Given the description of an element on the screen output the (x, y) to click on. 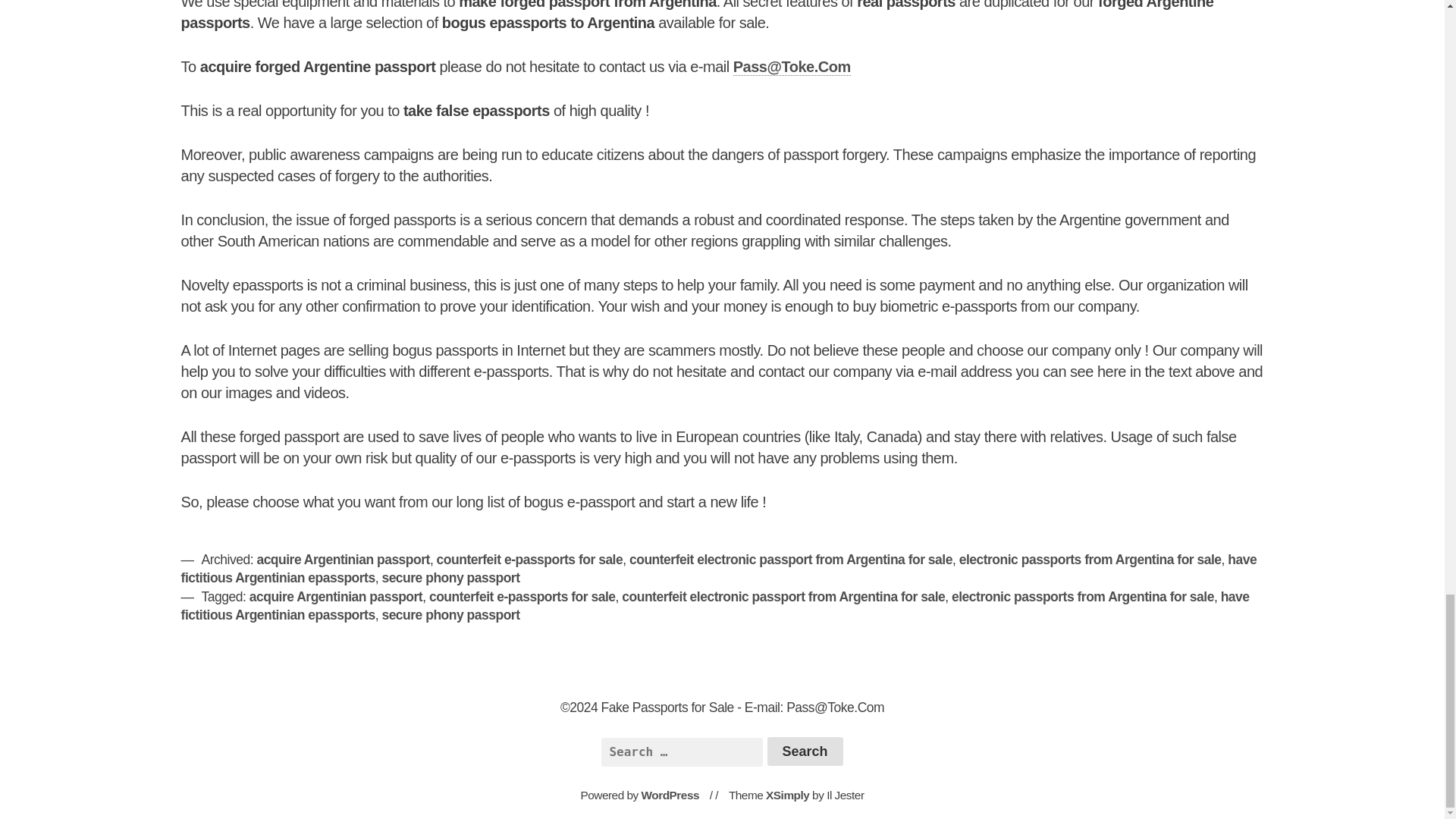
counterfeit electronic passport from Argentina for sale (782, 596)
Search (805, 751)
XSimply (787, 794)
WordPress (670, 794)
acquire Argentinian passport (342, 559)
acquire Argentinian passport (335, 596)
counterfeit e-passports for sale (529, 559)
electronic passports from Argentina for sale (1090, 559)
have fictitious Argentinian epassports (714, 605)
counterfeit e-passports for sale (522, 596)
electronic passports from Argentina for sale (1083, 596)
counterfeit electronic passport from Argentina for sale (790, 559)
have fictitious Argentinian epassports (718, 569)
Search (805, 751)
secure phony passport (450, 577)
